Given the description of an element on the screen output the (x, y) to click on. 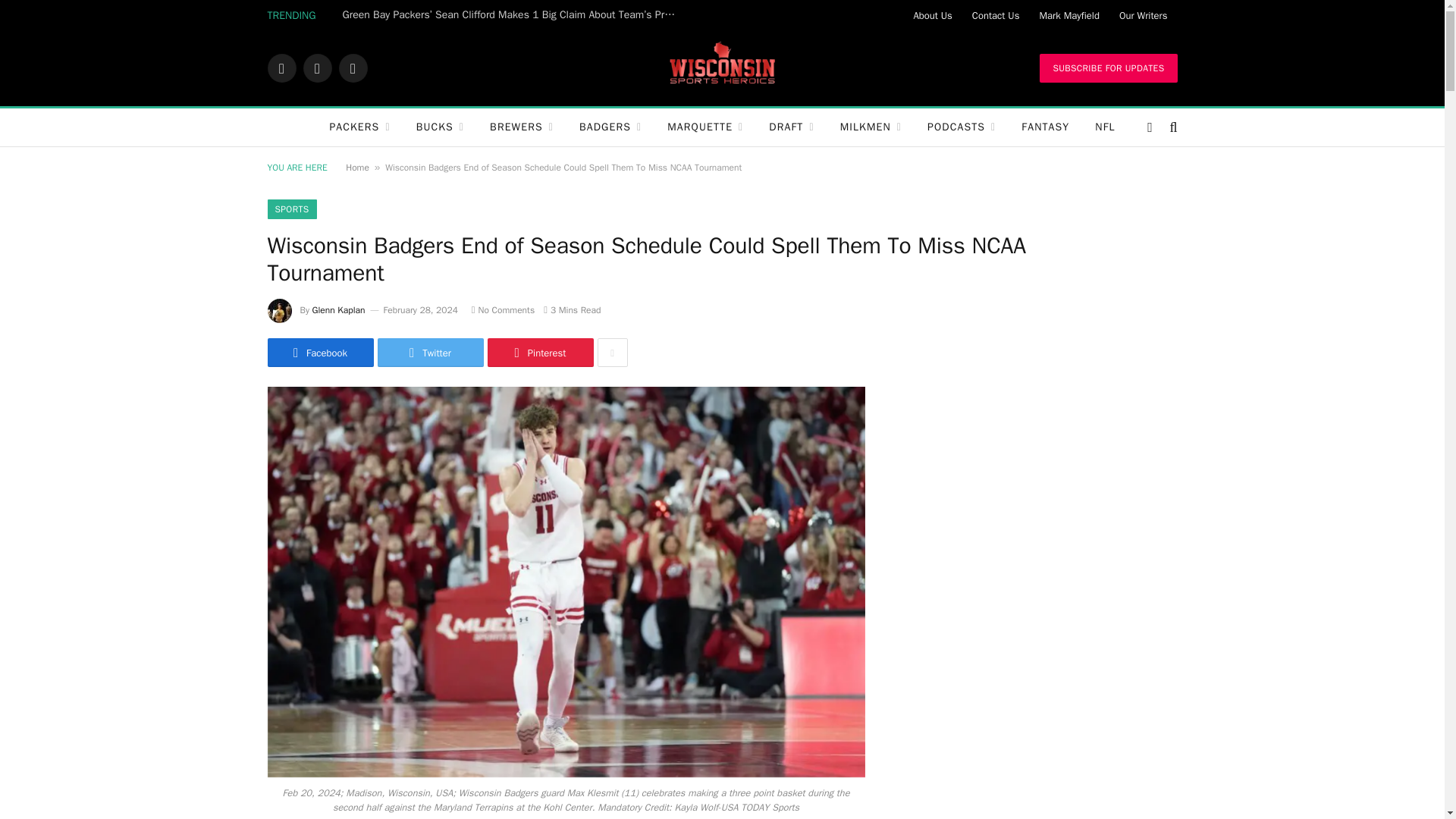
Facebook (280, 68)
PACKERS (359, 127)
Mark Mayfield (1068, 15)
Switch to Dark Design - easier on eyes. (1149, 127)
BUCKS (440, 127)
About Us (931, 15)
RSS (351, 68)
Posts by Glenn Kaplan (339, 309)
WI Sports Heroics (721, 68)
Our Writers (1143, 15)
